Given the description of an element on the screen output the (x, y) to click on. 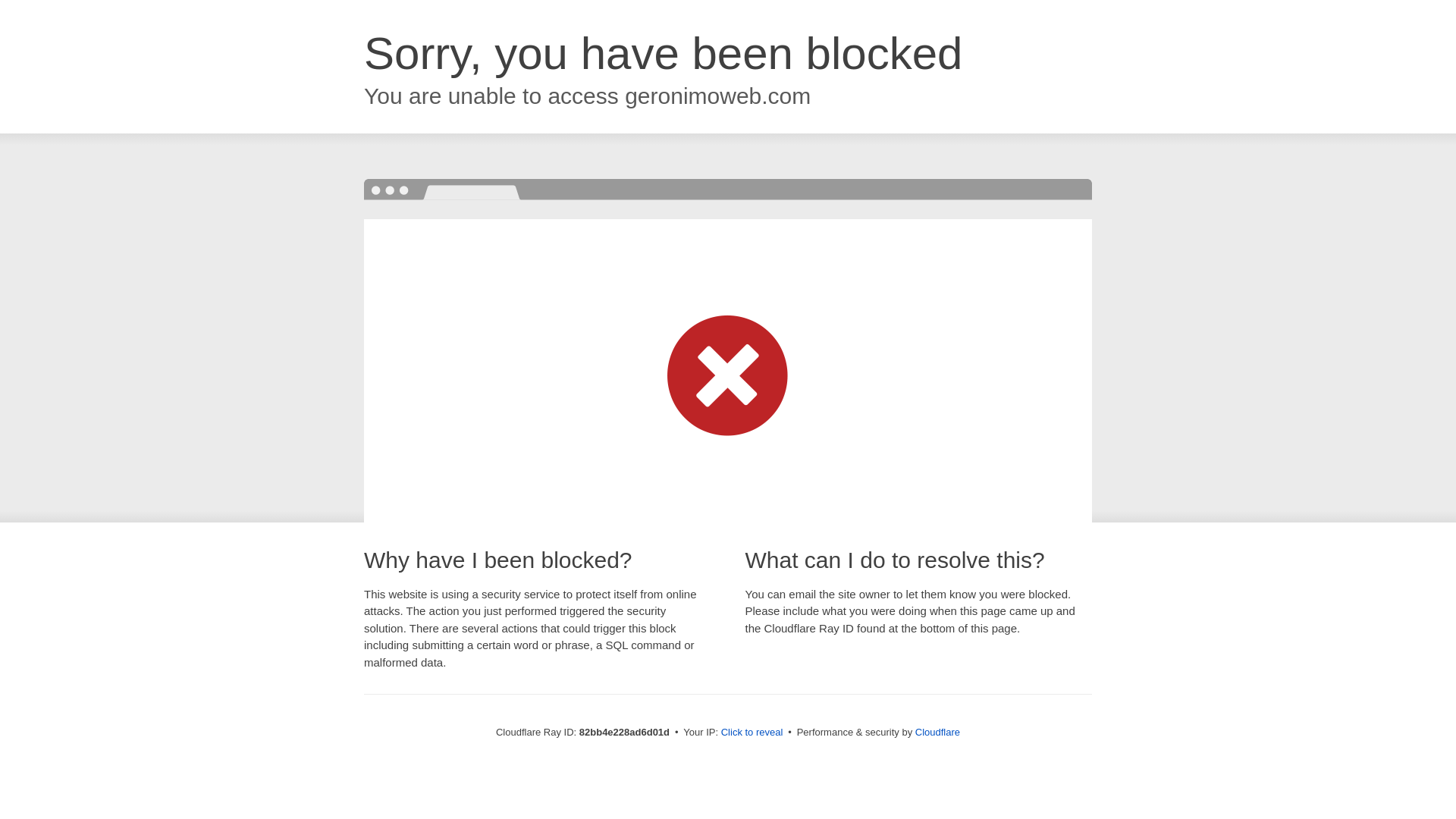
Cloudflare Element type: text (937, 731)
Click to reveal Element type: text (752, 732)
